Given the description of an element on the screen output the (x, y) to click on. 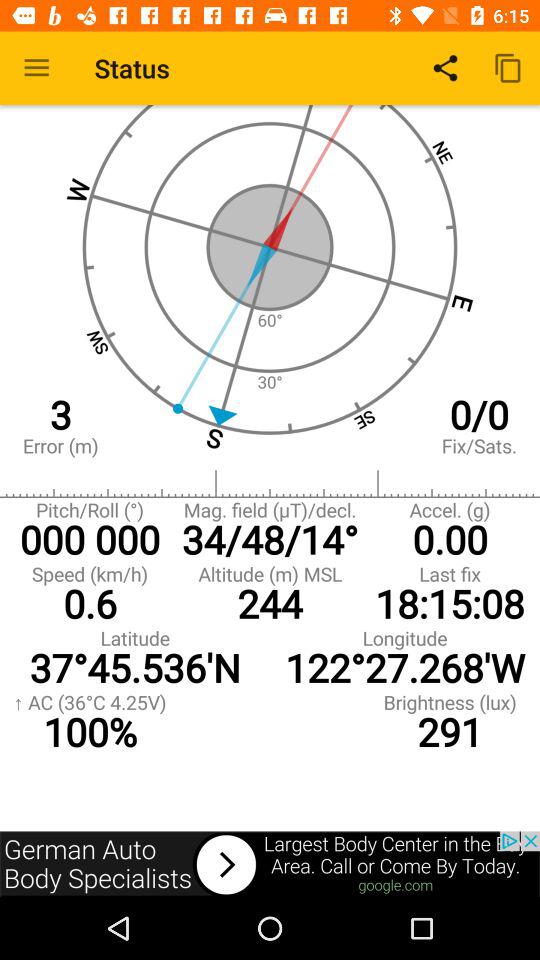
open the german auto body specialists link (270, 864)
